Given the description of an element on the screen output the (x, y) to click on. 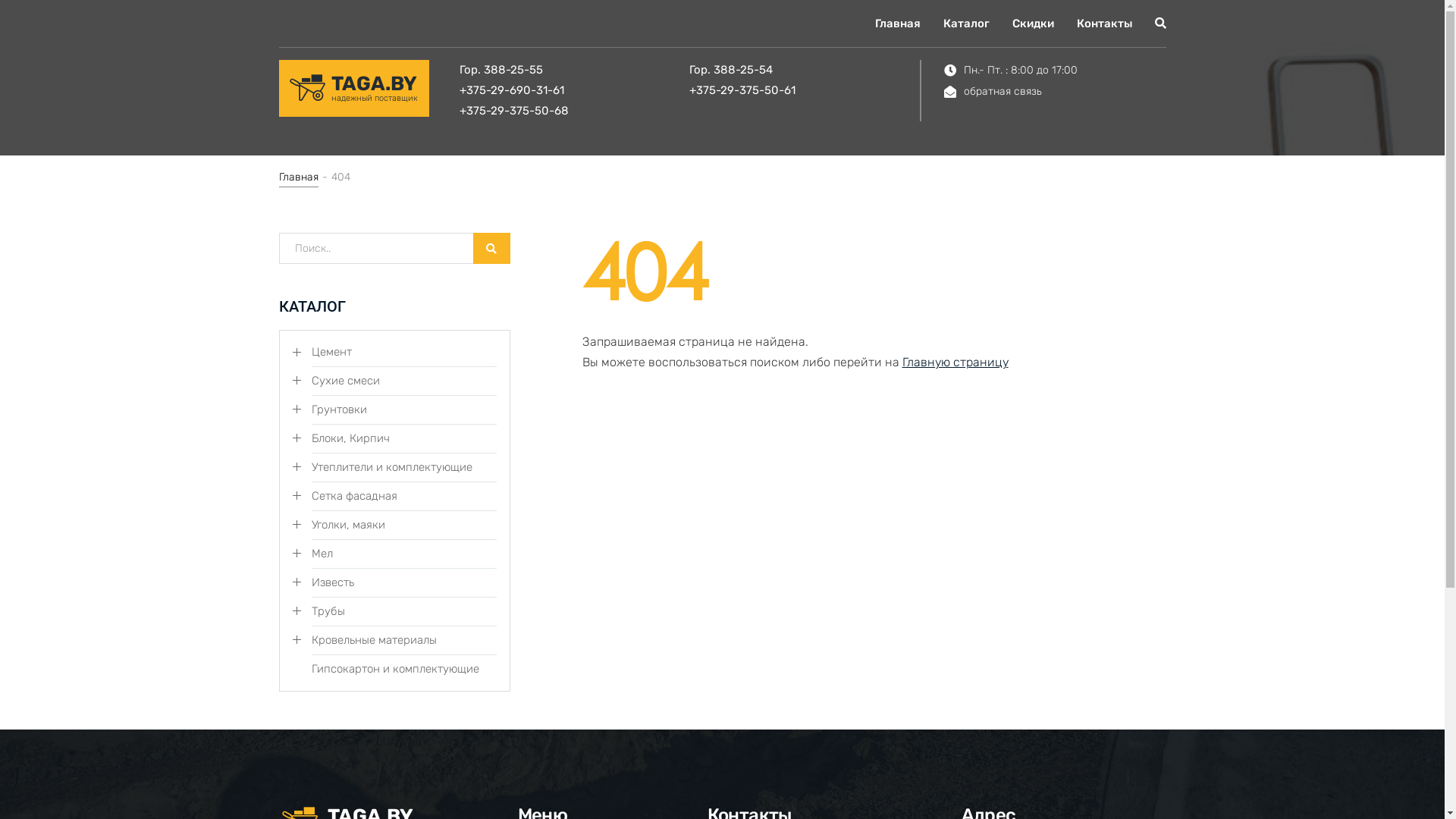
+375-29-690-31-61 Element type: text (574, 90)
+375-29-375-50-61 Element type: text (804, 90)
+375-29-375-50-68 Element type: text (574, 110)
